Given the description of an element on the screen output the (x, y) to click on. 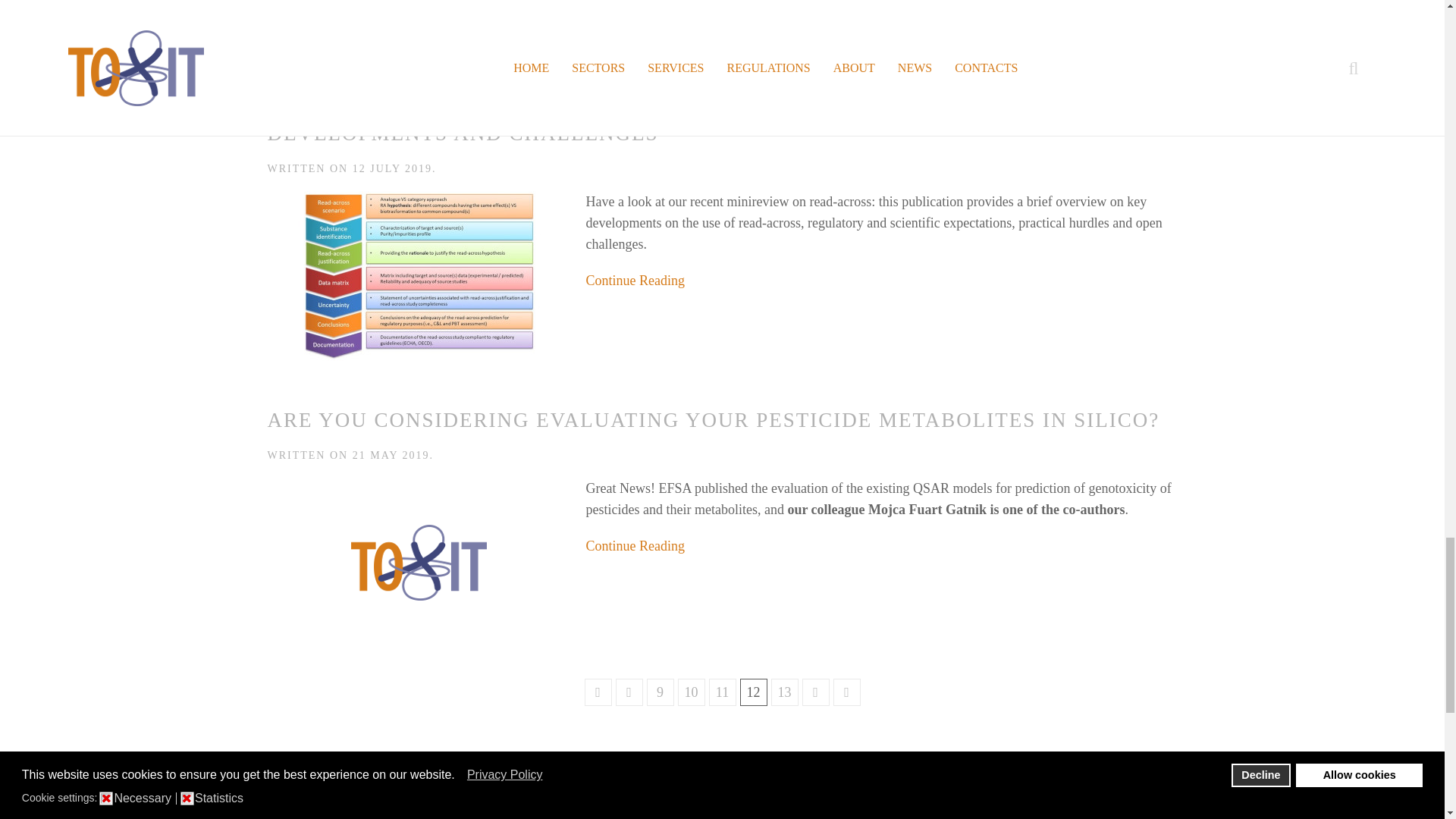
Start (597, 691)
Prev (629, 691)
New partnership with Federchimica (315, 53)
